Given the description of an element on the screen output the (x, y) to click on. 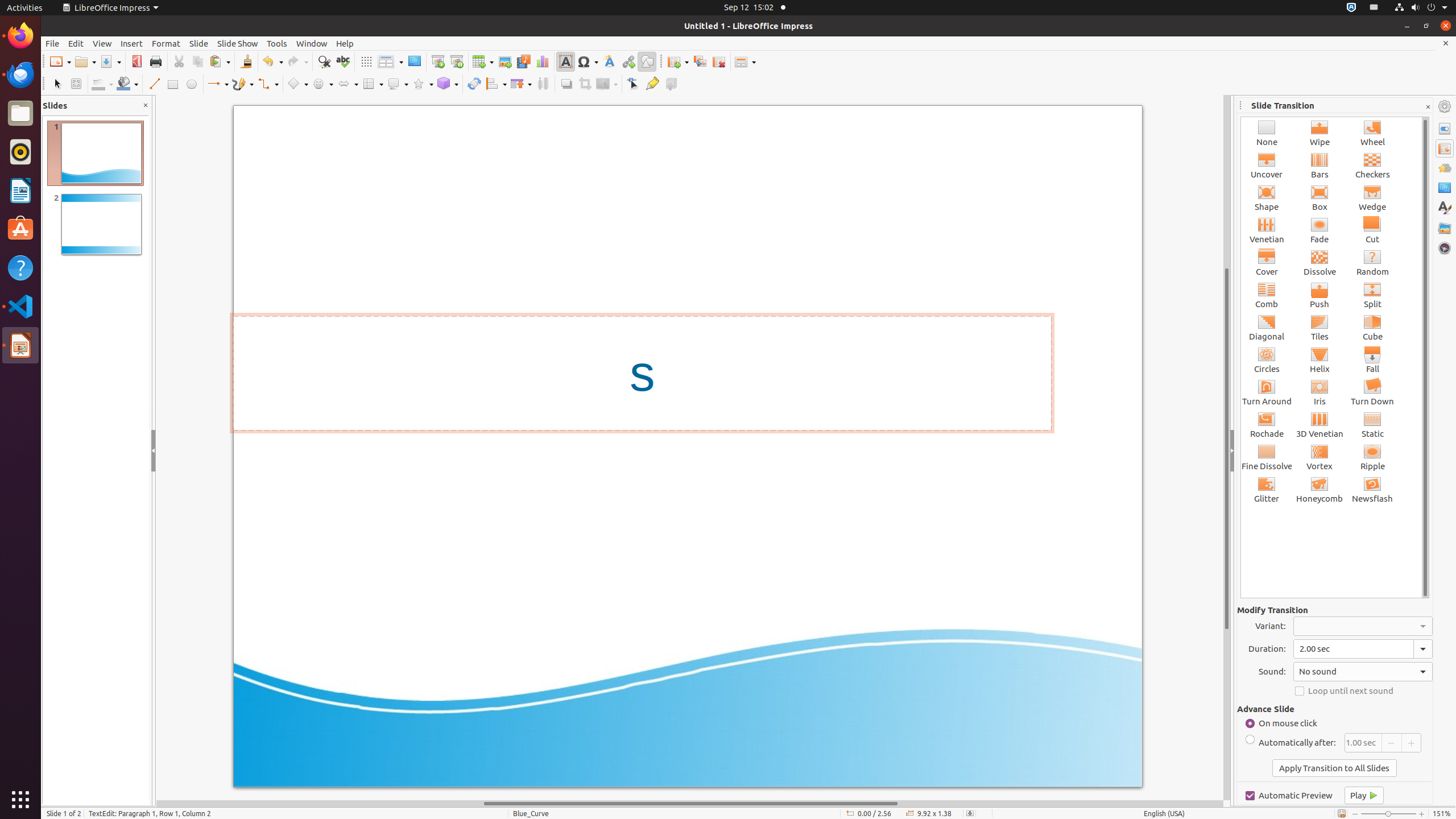
Slide Transition Element type: radio-button (1444, 148)
Glue Points Element type: push-button (651, 83)
Table Element type: push-button (482, 61)
Ubuntu Software Element type: push-button (20, 229)
